Given the description of an element on the screen output the (x, y) to click on. 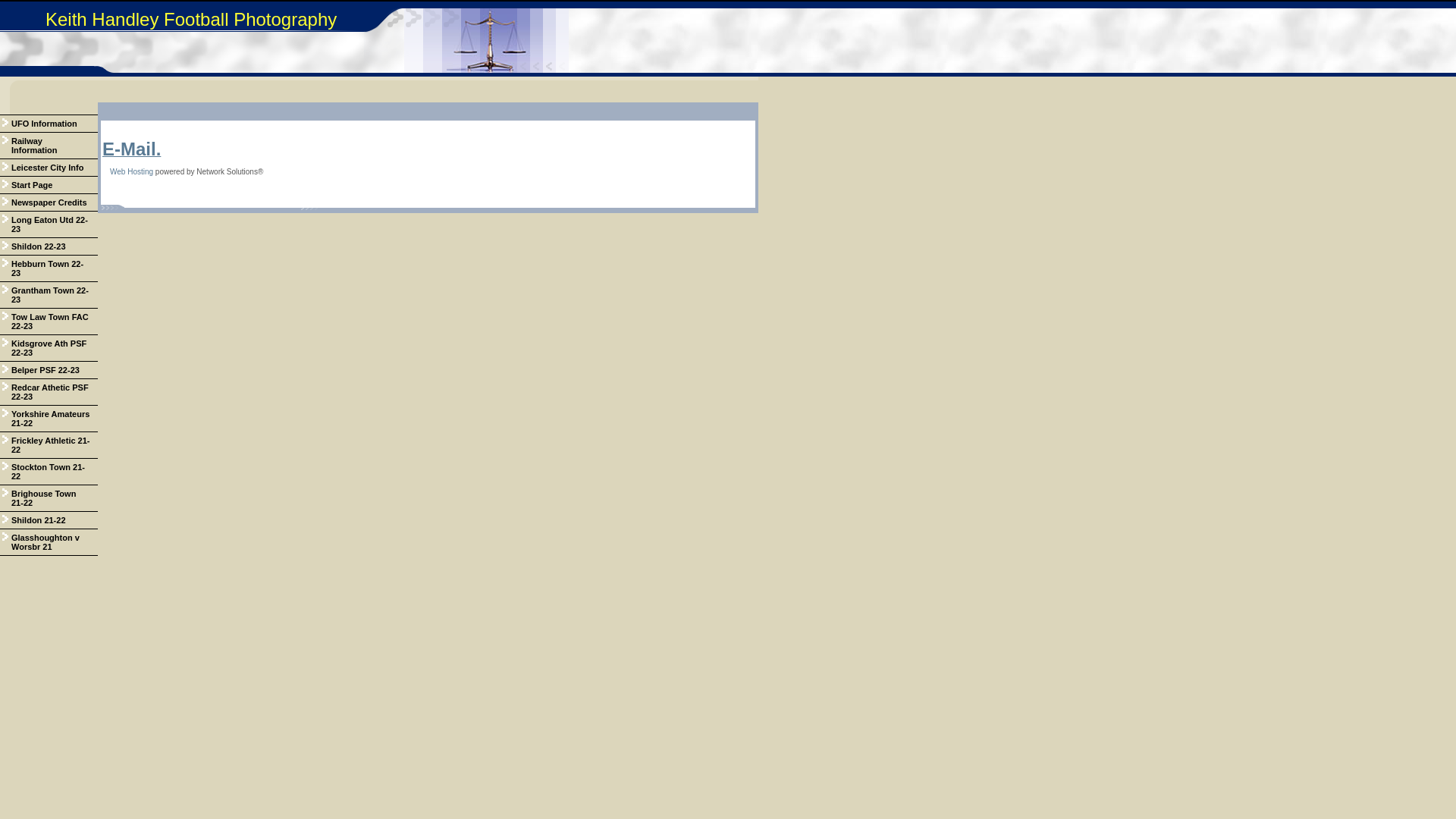
Brighouse Town 21-22 Element type: text (48, 498)
Stockton Town 21-22 Element type: text (48, 471)
Long Eaton Utd 22-23 Element type: text (48, 224)
Shildon 21-22 Element type: text (48, 520)
Frickley Athletic 21-22 Element type: text (48, 445)
Hebburn Town 22-23 Element type: text (48, 268)
Redcar Athetic PSF 22-23 Element type: text (48, 392)
Leicester City Info Element type: text (48, 167)
Newspaper Credits Element type: text (48, 202)
Start Page Element type: text (48, 185)
Web Hosting Element type: text (131, 171)
Kidsgrove Ath PSF 22-23 Element type: text (48, 348)
Shildon 22-23 Element type: text (48, 246)
E-Mail. Element type: text (131, 152)
UFO Information Element type: text (48, 123)
Glasshoughton v Worsbr 21 Element type: text (48, 542)
Belper PSF 22-23 Element type: text (48, 370)
Railway Information Element type: text (48, 145)
Grantham Town 22-23 Element type: text (48, 295)
Yorkshire Amateurs 21-22 Element type: text (48, 418)
Tow Law Town FAC 22-23 Element type: text (48, 321)
